Given the description of an element on the screen output the (x, y) to click on. 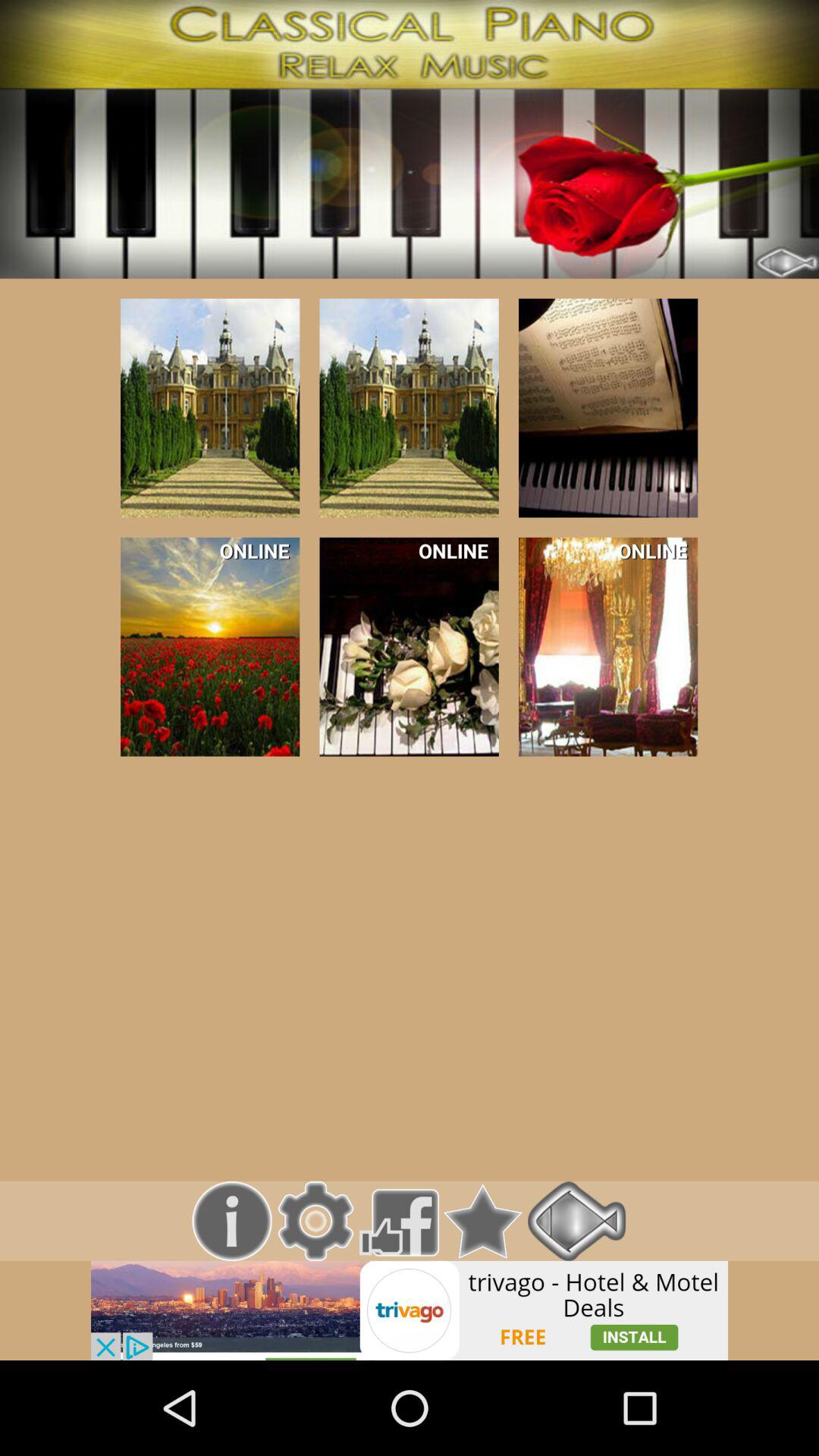
open selected item (209, 407)
